Given the description of an element on the screen output the (x, y) to click on. 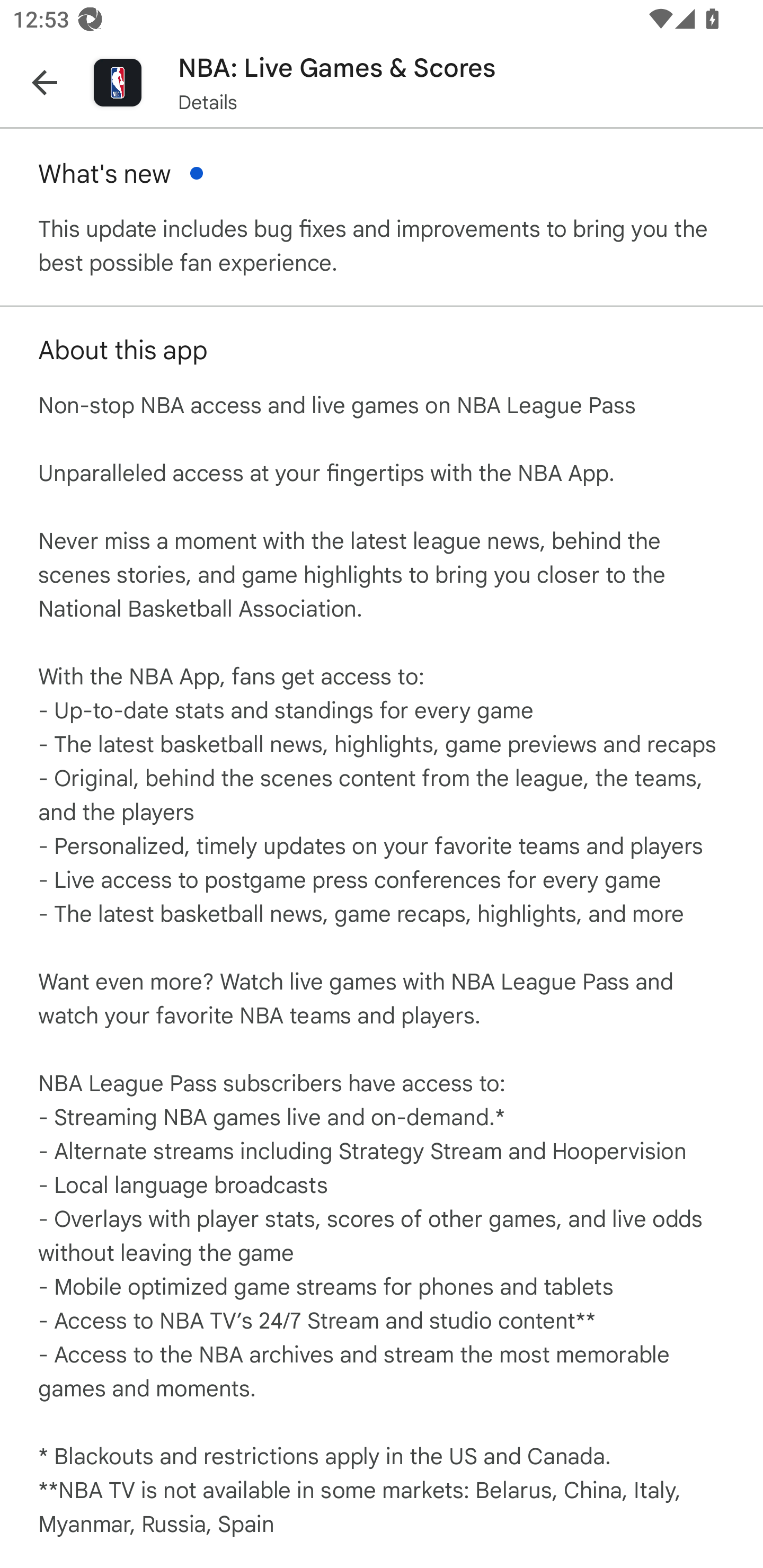
Navigate up (44, 82)
